Given the description of an element on the screen output the (x, y) to click on. 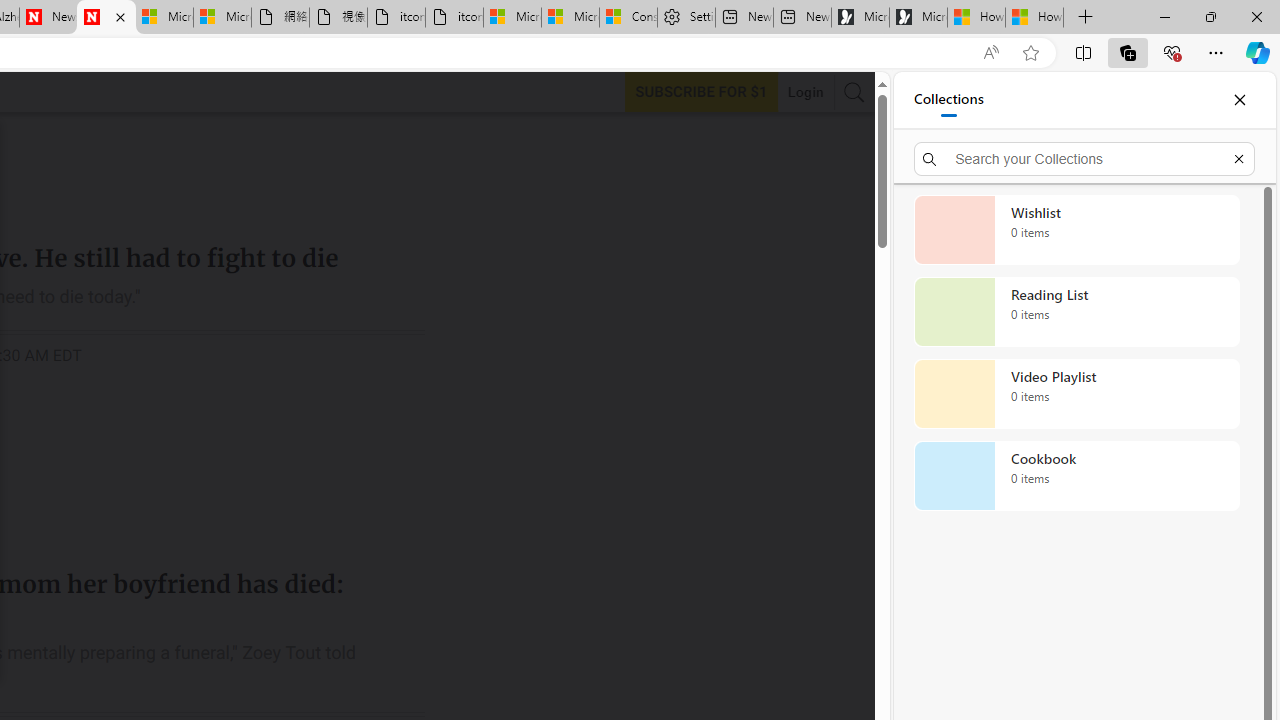
Subscribe to our service (701, 91)
Exit search (1238, 158)
